Given the description of an element on the screen output the (x, y) to click on. 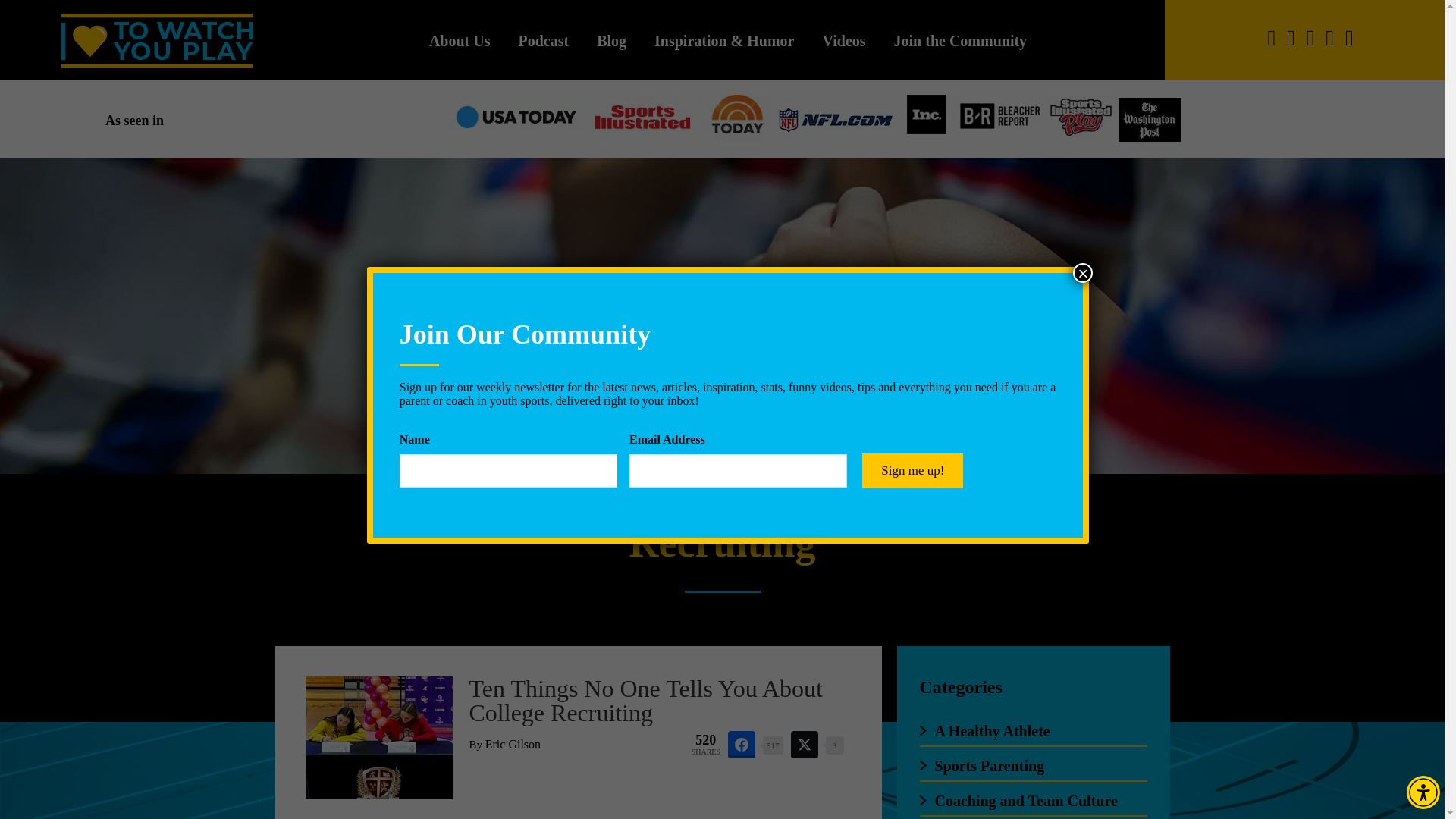
Coaching and Team Culture (1025, 800)
Twitter (1311, 38)
Sports Parenting (988, 765)
A Healthy Athlete (991, 730)
About Us (459, 47)
pinterest (1348, 38)
Sign me up! (911, 470)
Ten Things No One Tells You About College Recruiting  (645, 700)
Facebook (1271, 38)
Join the Community (960, 47)
Accessibility Menu (1422, 792)
Blog (612, 47)
Share on Twitter (803, 744)
Share on Facebook (741, 744)
